Given the description of an element on the screen output the (x, y) to click on. 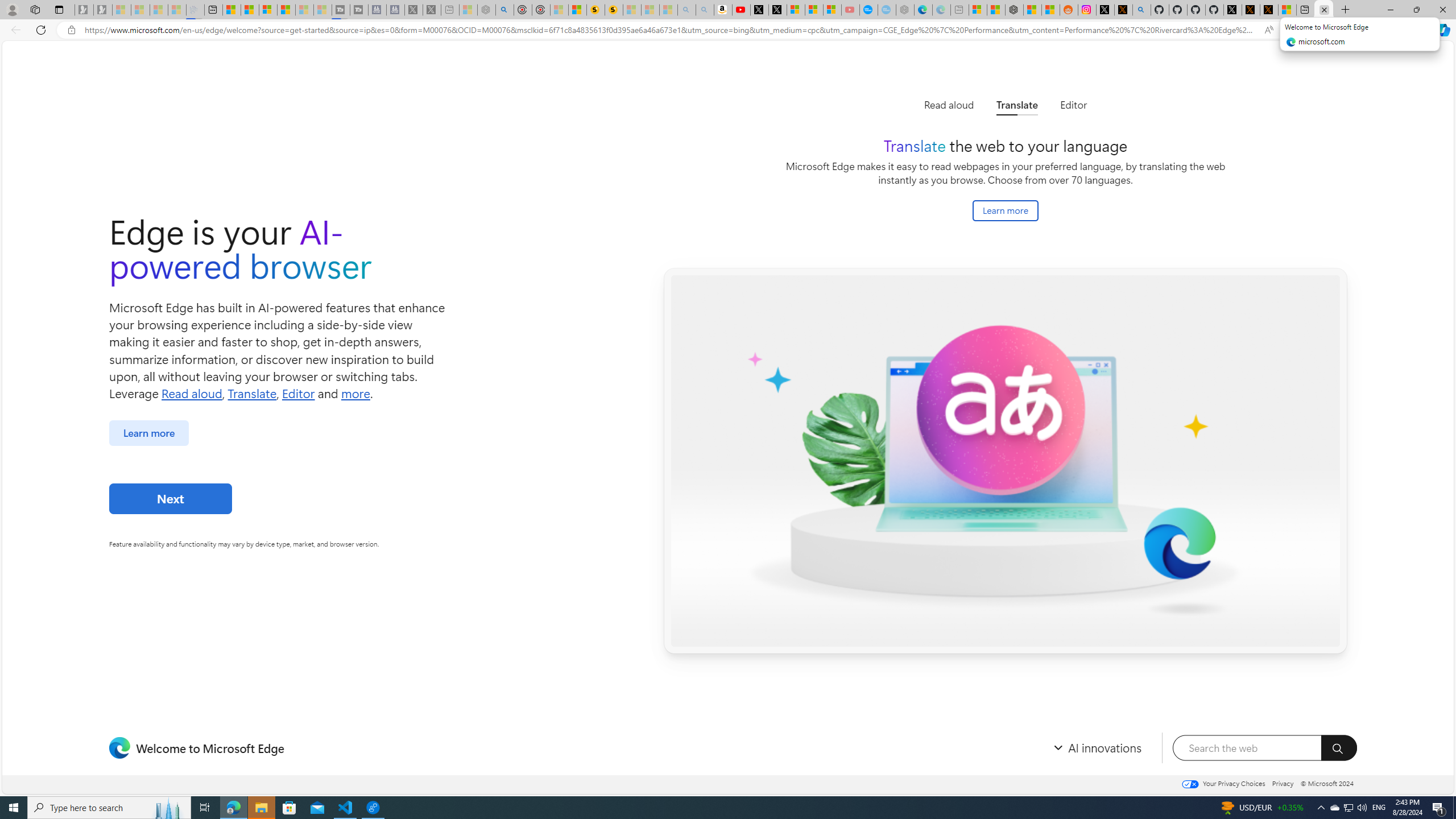
Nordace - Duffels (1013, 9)
Nordace - Nordace has arrived Hong Kong - Sleeping (904, 9)
Enhance video (1291, 29)
Opinion: Op-Ed and Commentary - USA TODAY (868, 9)
Overview (268, 9)
